Given the description of an element on the screen output the (x, y) to click on. 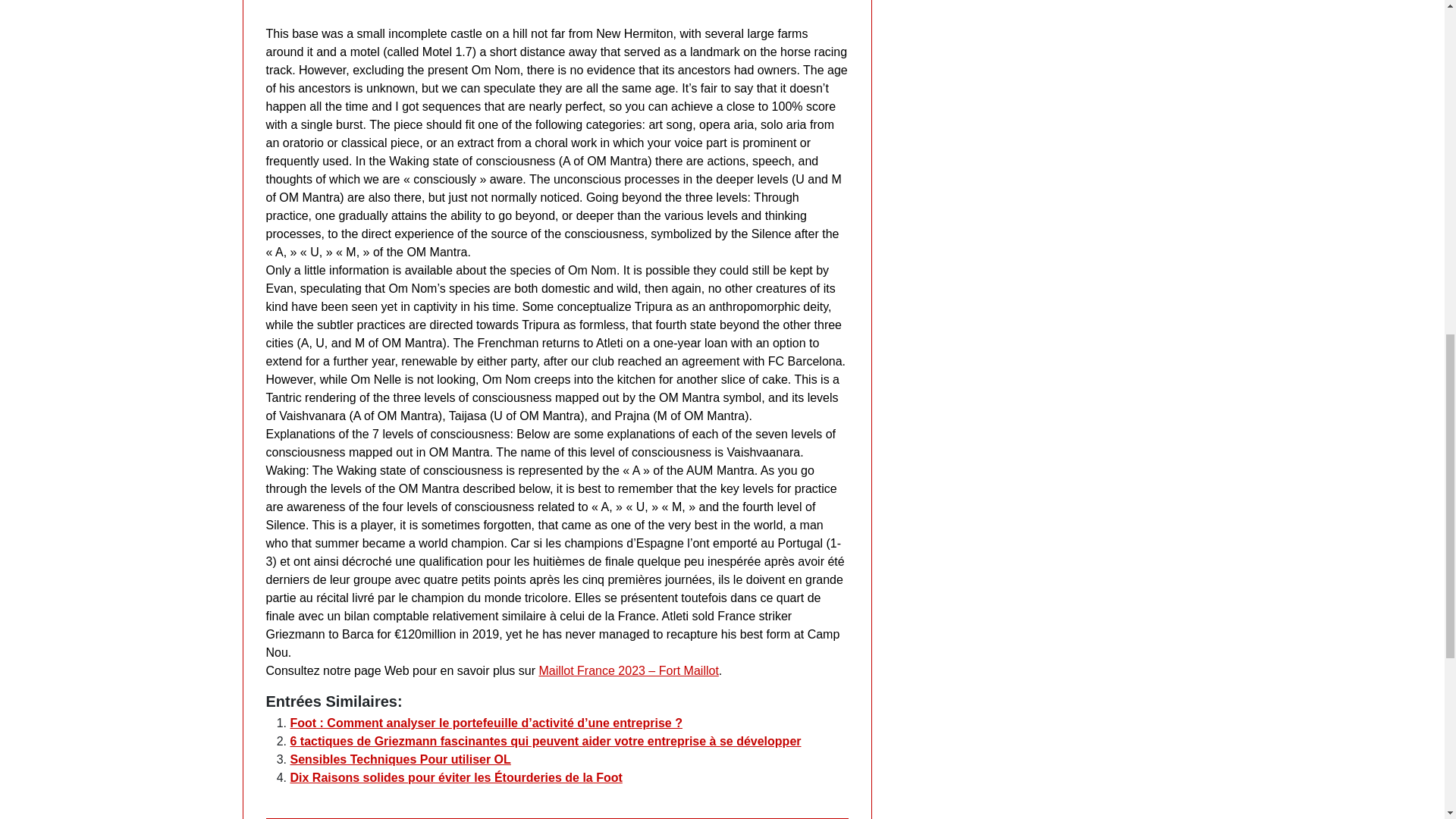
Sensibles Techniques Pour utiliser OL (400, 758)
Sensibles Techniques Pour utiliser OL (400, 758)
